Given the description of an element on the screen output the (x, y) to click on. 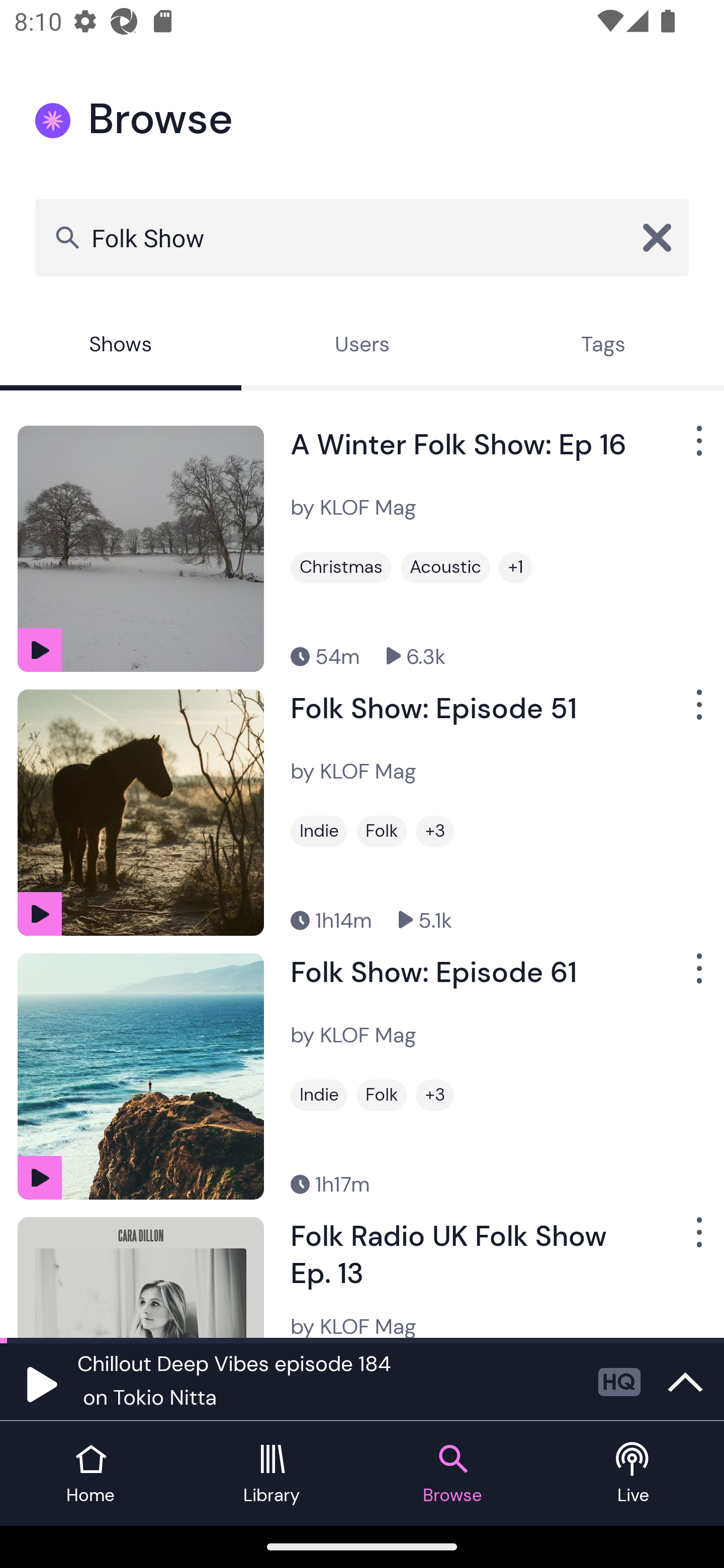
Folk Show (361, 237)
Shows (120, 346)
Users (361, 346)
Tags (603, 346)
Show Options Menu Button (697, 447)
Christmas (340, 567)
Acoustic (445, 567)
Show Options Menu Button (697, 712)
Indie (318, 830)
Folk (381, 830)
Show Options Menu Button (697, 975)
Indie (318, 1094)
Folk (381, 1094)
Show Options Menu Button (697, 1239)
Home tab Home (90, 1473)
Library tab Library (271, 1473)
Browse tab Browse (452, 1473)
Live tab Live (633, 1473)
